Given the description of an element on the screen output the (x, y) to click on. 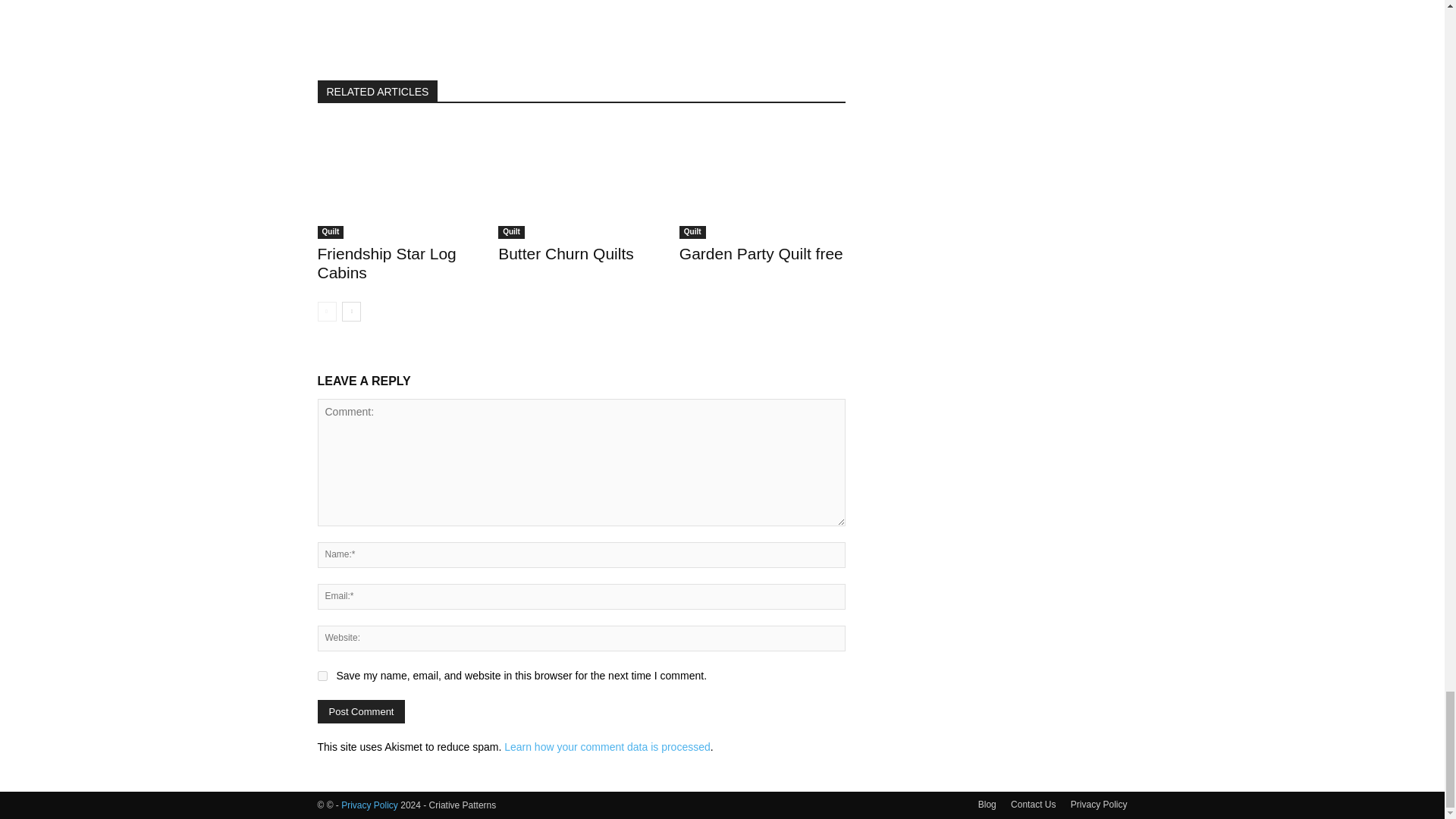
Quilt (330, 232)
Quilt (692, 232)
Learn how your comment data is processed (606, 746)
Friendship Star Log Cabins (400, 180)
Friendship Star Log Cabins (386, 262)
yes (321, 675)
Butter Churn Quilts (565, 253)
Post Comment (360, 711)
Garden Party Quilt free (761, 253)
Friendship Star Log Cabins (386, 262)
Post Comment (360, 711)
Butter Churn Quilts (580, 180)
Quilt (510, 232)
